Given the description of an element on the screen output the (x, y) to click on. 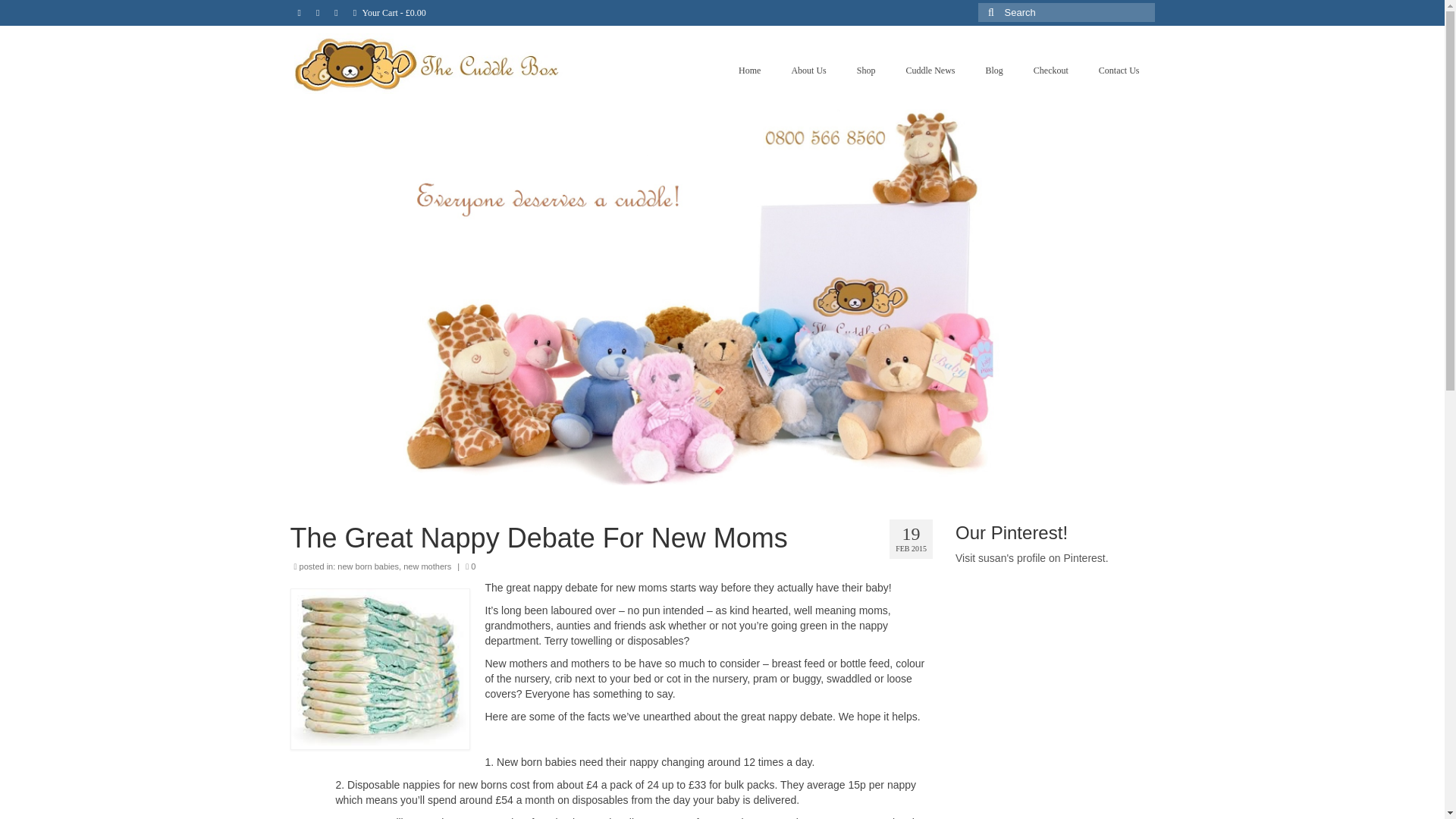
About Us (808, 70)
View your shopping cart (389, 12)
Shop (866, 70)
new mothers (427, 565)
new born babies (367, 565)
Home (749, 70)
Contact Us (1118, 70)
Blog (993, 70)
Checkout (1050, 70)
Cuddle News (929, 70)
